Given the description of an element on the screen output the (x, y) to click on. 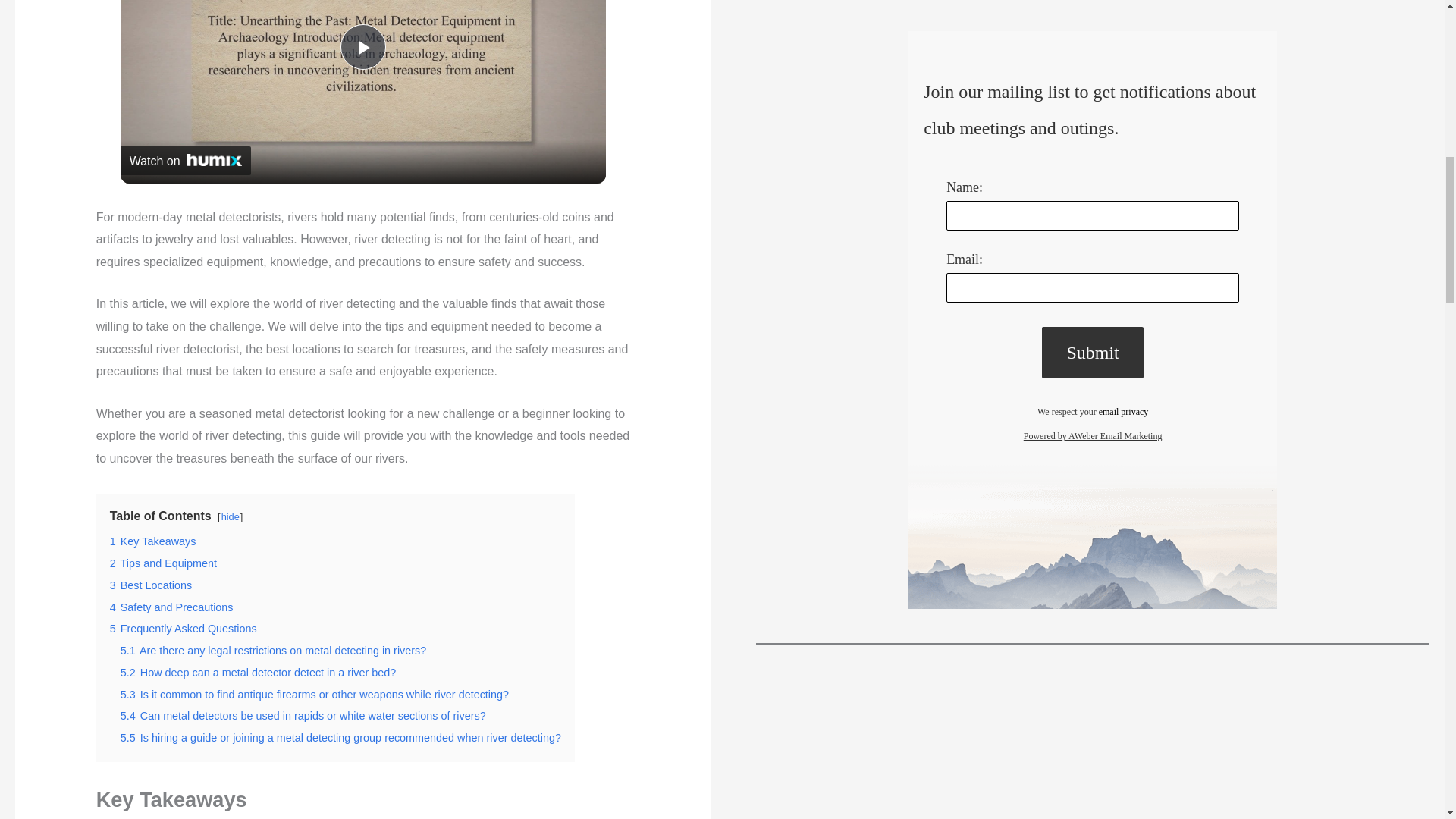
Watch on (185, 159)
hide (230, 516)
Play Video (362, 46)
Play Video (362, 46)
Submit (1092, 352)
